Given the description of an element on the screen output the (x, y) to click on. 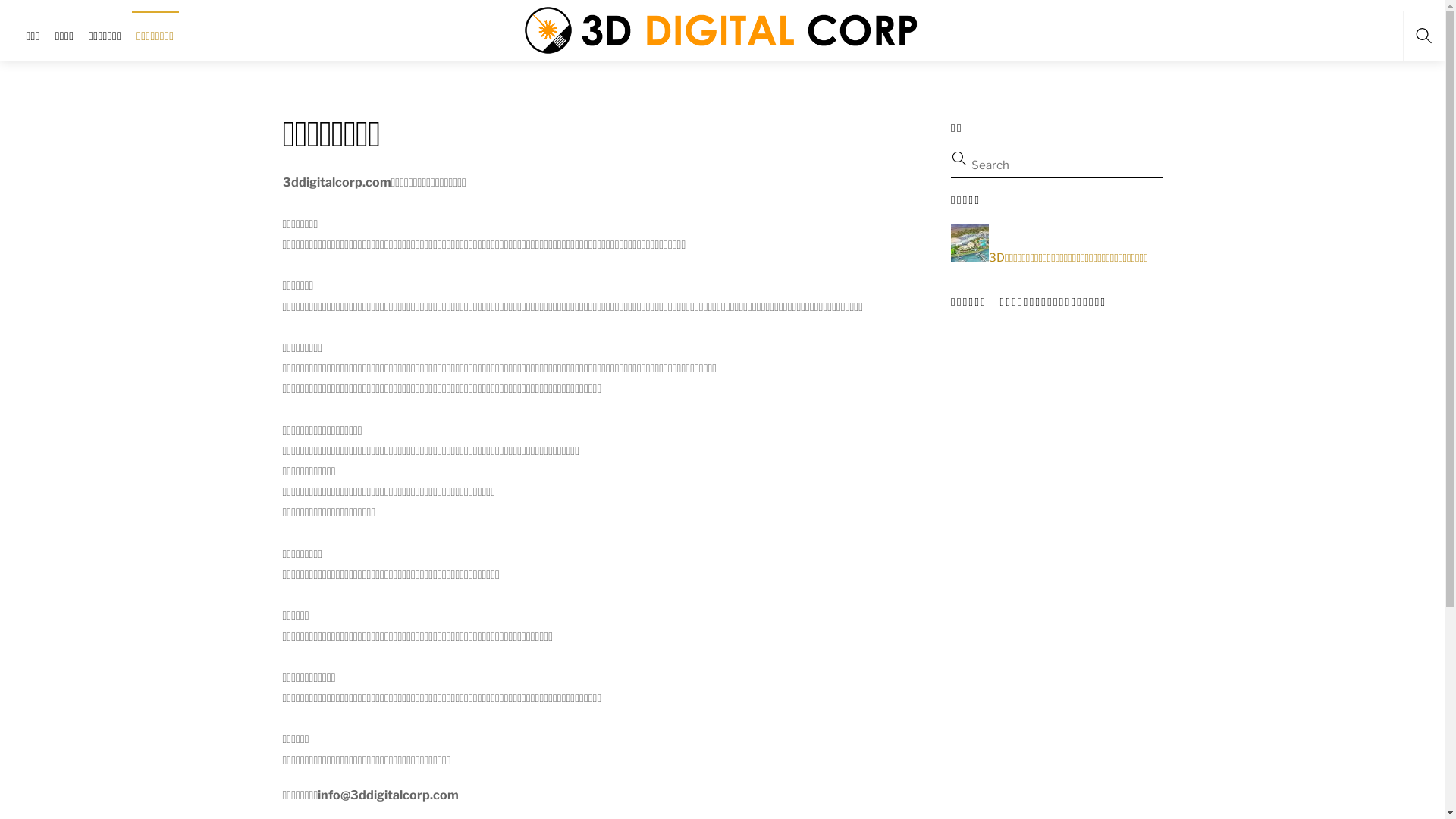
3D Digital  Corp Element type: hover (723, 28)
Search Element type: hover (1048, 164)
3D Digital Corp Element type: hover (723, 29)
